Given the description of an element on the screen output the (x, y) to click on. 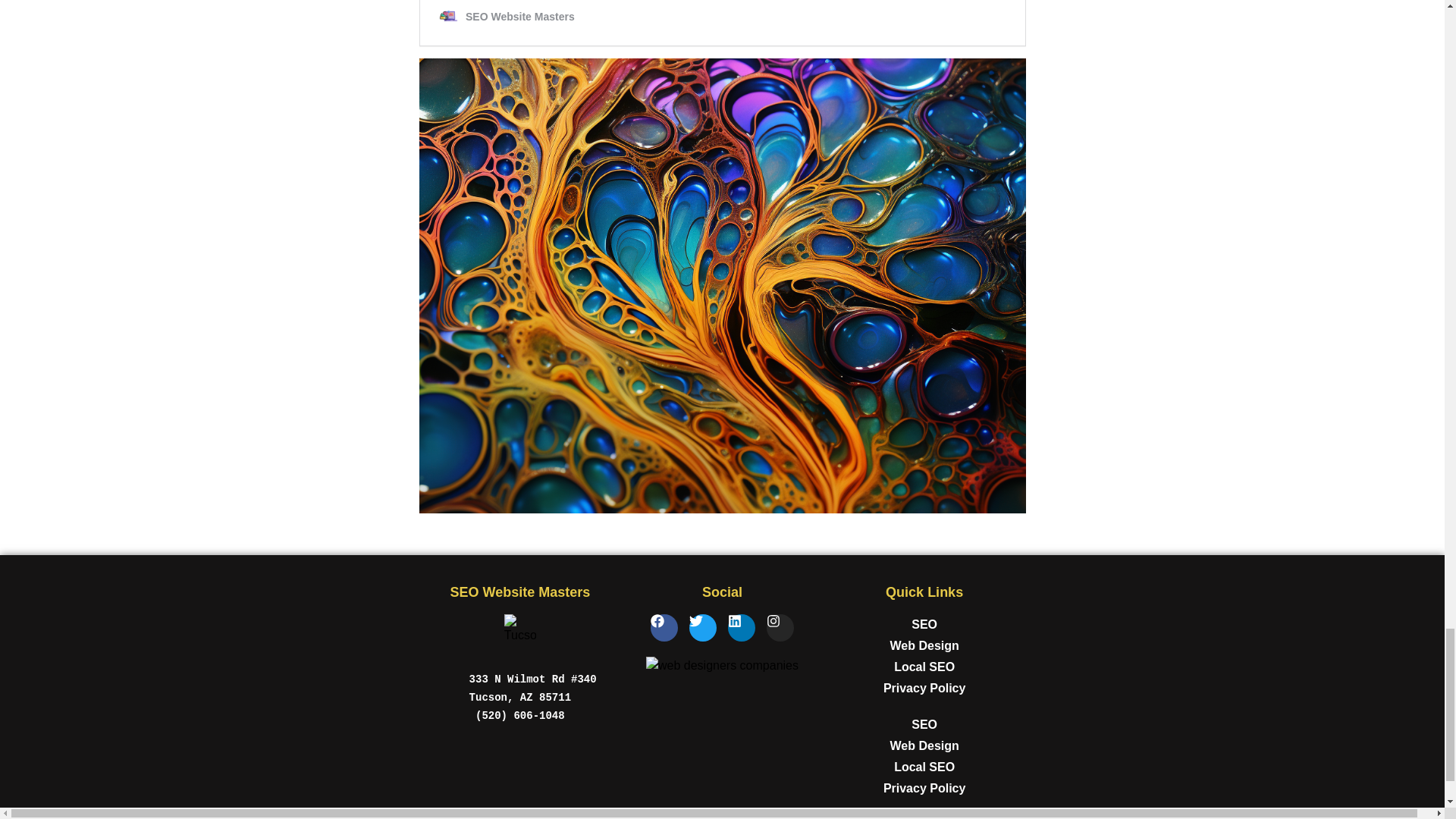
Local SEO (924, 767)
SEO (924, 724)
SEO (924, 624)
Web Design (924, 745)
web designers companies (721, 665)
Privacy Policy (924, 688)
Web Design (924, 645)
Local SEO (924, 667)
Privacy Policy (924, 788)
